Given the description of an element on the screen output the (x, y) to click on. 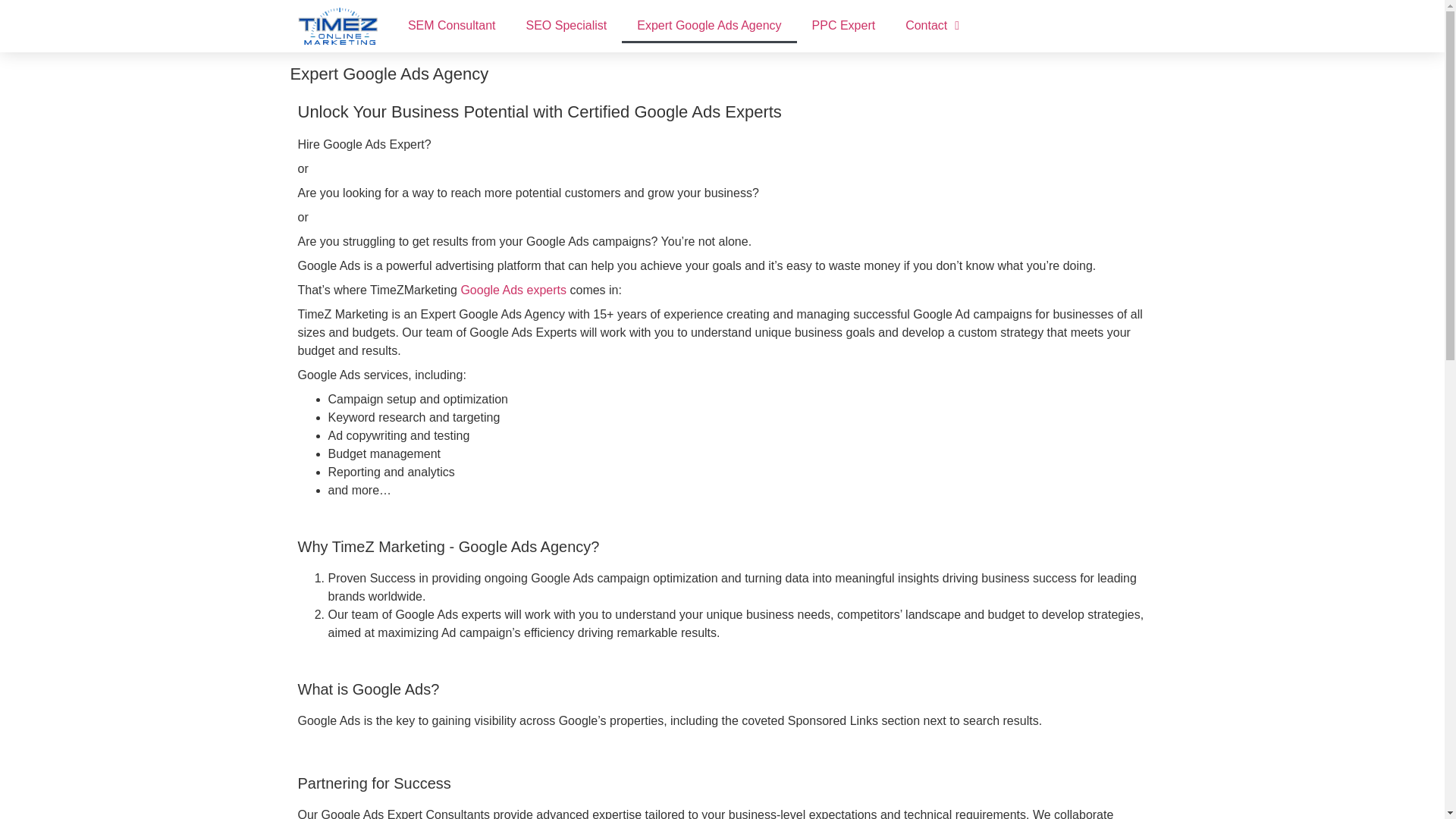
PPC Expert (843, 25)
Expert Google Ads Agency (708, 25)
SEM Consultant (452, 25)
Google Ads experts (513, 289)
Contact (931, 25)
SEO Specialist (567, 25)
